Given the description of an element on the screen output the (x, y) to click on. 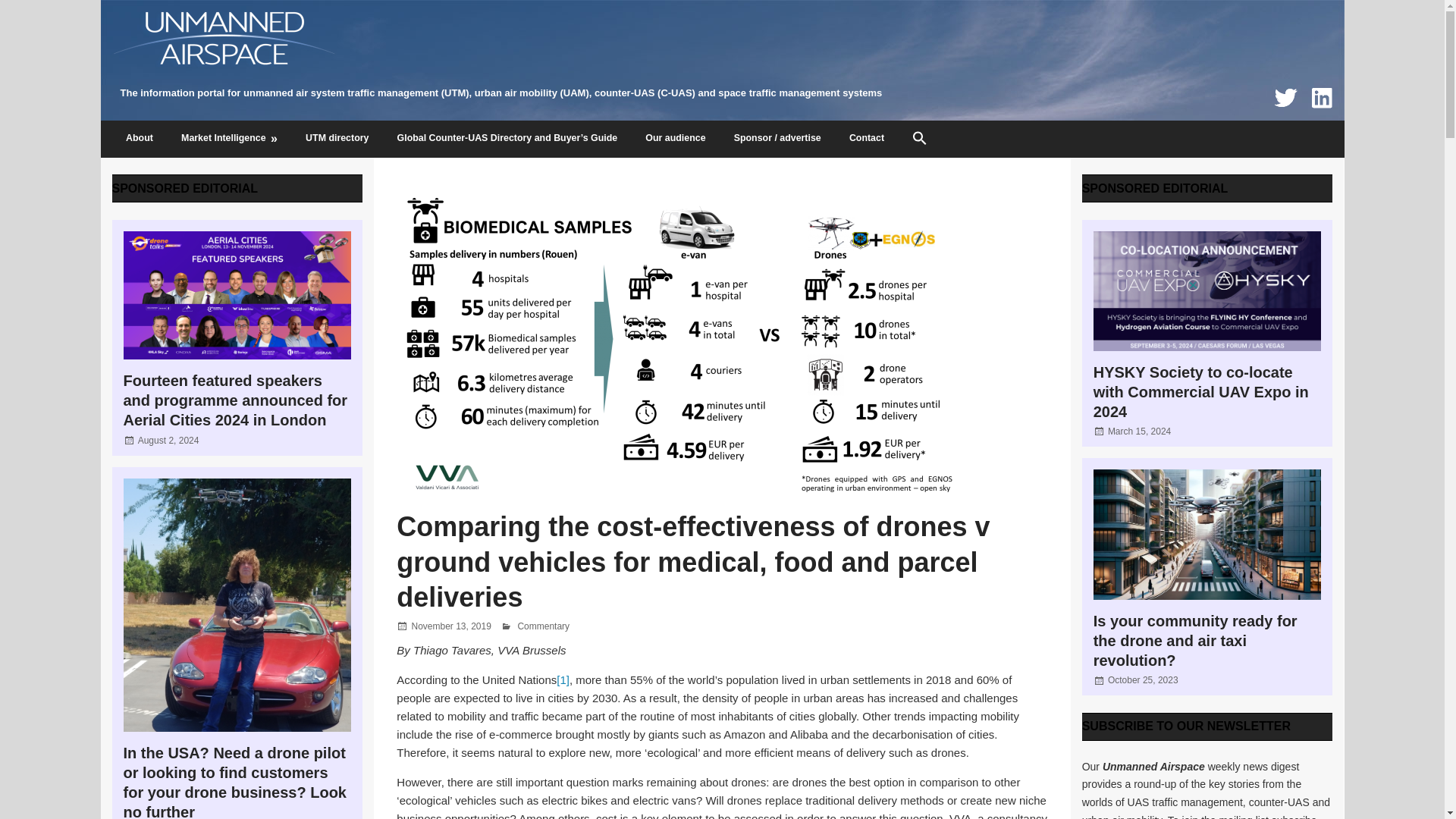
Contact (866, 138)
View all posts by Philip Butterworth-Hayes (566, 625)
2:01 pm (168, 439)
Commentary (542, 625)
1:16 pm (1139, 430)
About (139, 138)
9:00 am (1142, 679)
View all posts from category Sponsored editorial 2 (1154, 187)
November 13, 2019 (450, 625)
Our audience (675, 138)
